Given the description of an element on the screen output the (x, y) to click on. 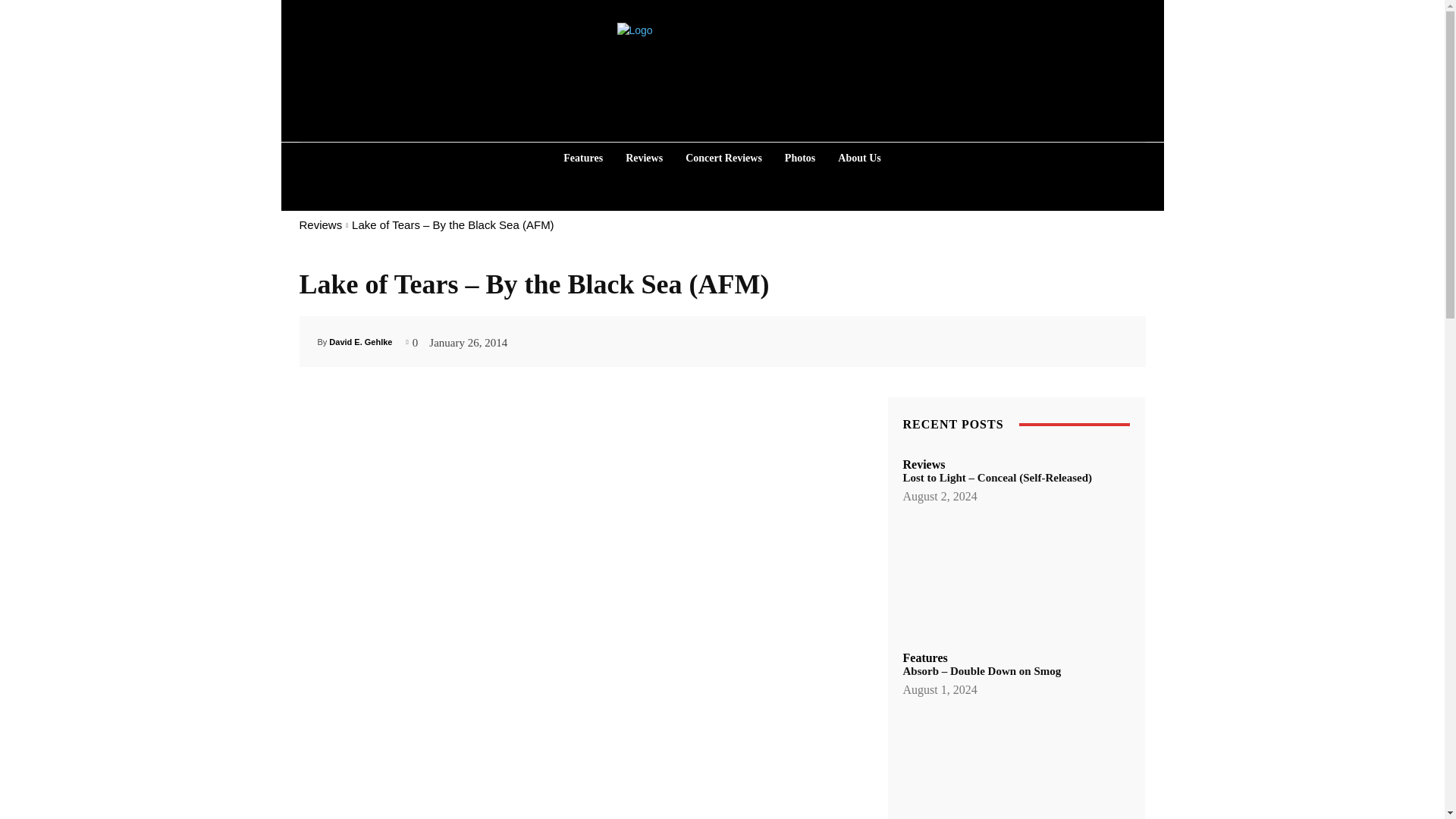
Features (583, 158)
Reviews (320, 224)
Photos (799, 158)
0 (412, 340)
David E. Gehlke (360, 341)
View all posts in Reviews (320, 224)
Reviews (643, 158)
Concert Reviews (724, 158)
About Us (858, 158)
